Given the description of an element on the screen output the (x, y) to click on. 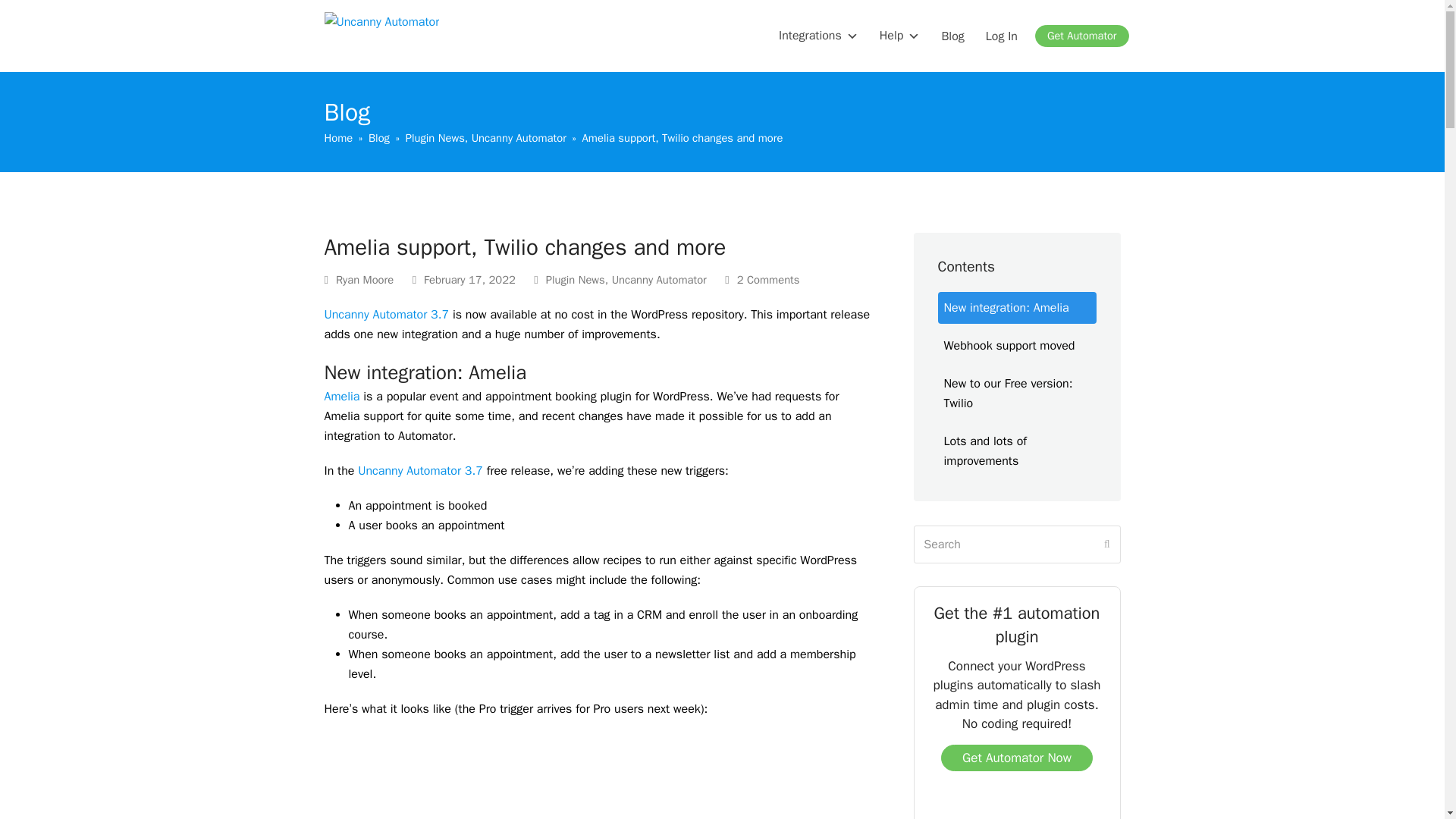
Posts by Ryan Moore (364, 279)
Help (900, 35)
2 Comments (762, 280)
Integrations (818, 35)
